Given the description of an element on the screen output the (x, y) to click on. 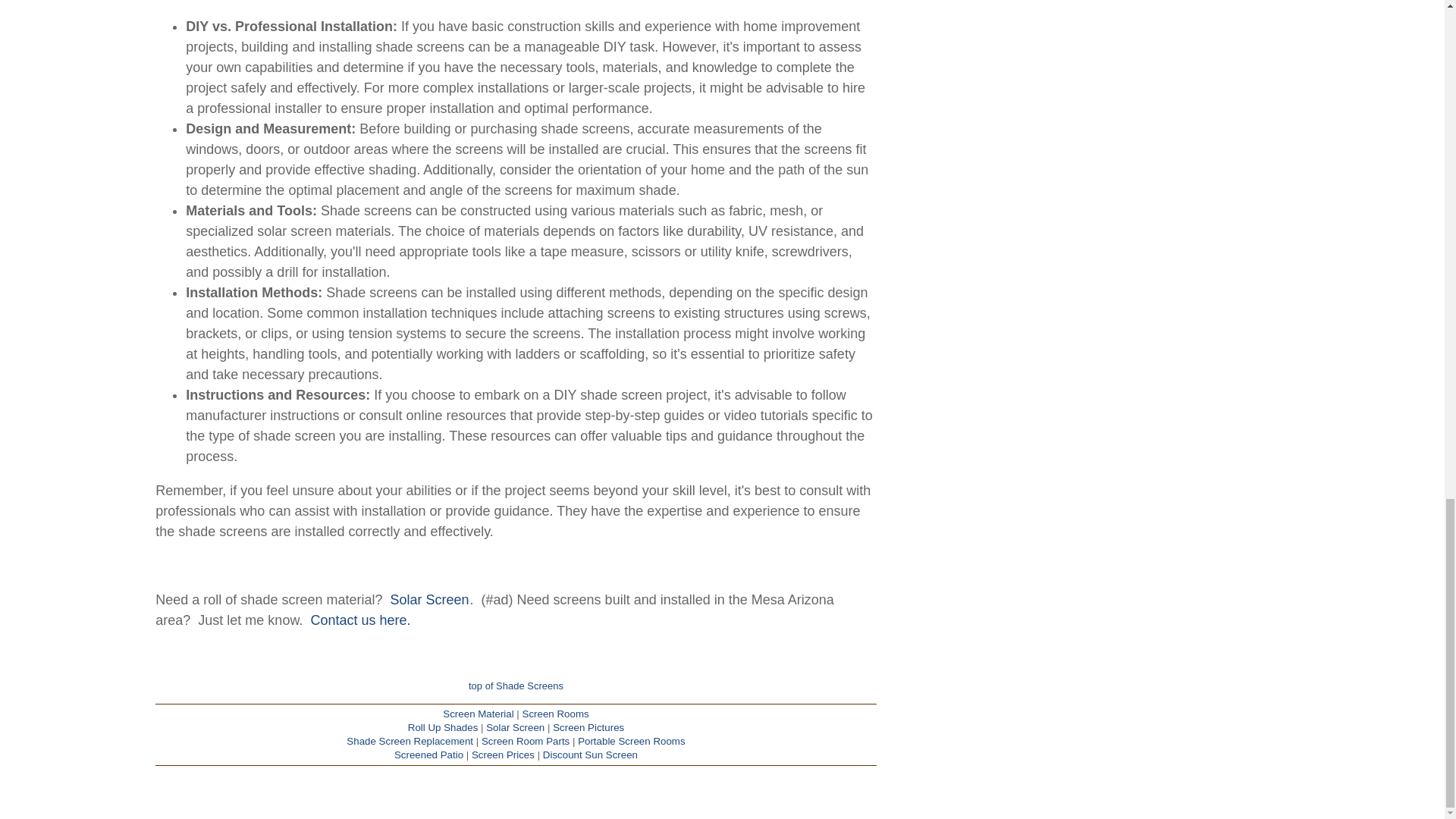
Portable Screen Rooms (631, 740)
Shade Screen Replacement (409, 740)
Screen Pictures (588, 727)
Contact us here. (360, 620)
Discount Sun Screen (590, 754)
Screen Prices (502, 754)
top of Shade Screens (515, 685)
Solar Screen (515, 727)
Screened Patio (428, 754)
Screen Room Parts (525, 740)
Screen Rooms (555, 713)
Screen Material (477, 713)
Roll Up Shades (443, 727)
Solar Screen (429, 599)
